Given the description of an element on the screen output the (x, y) to click on. 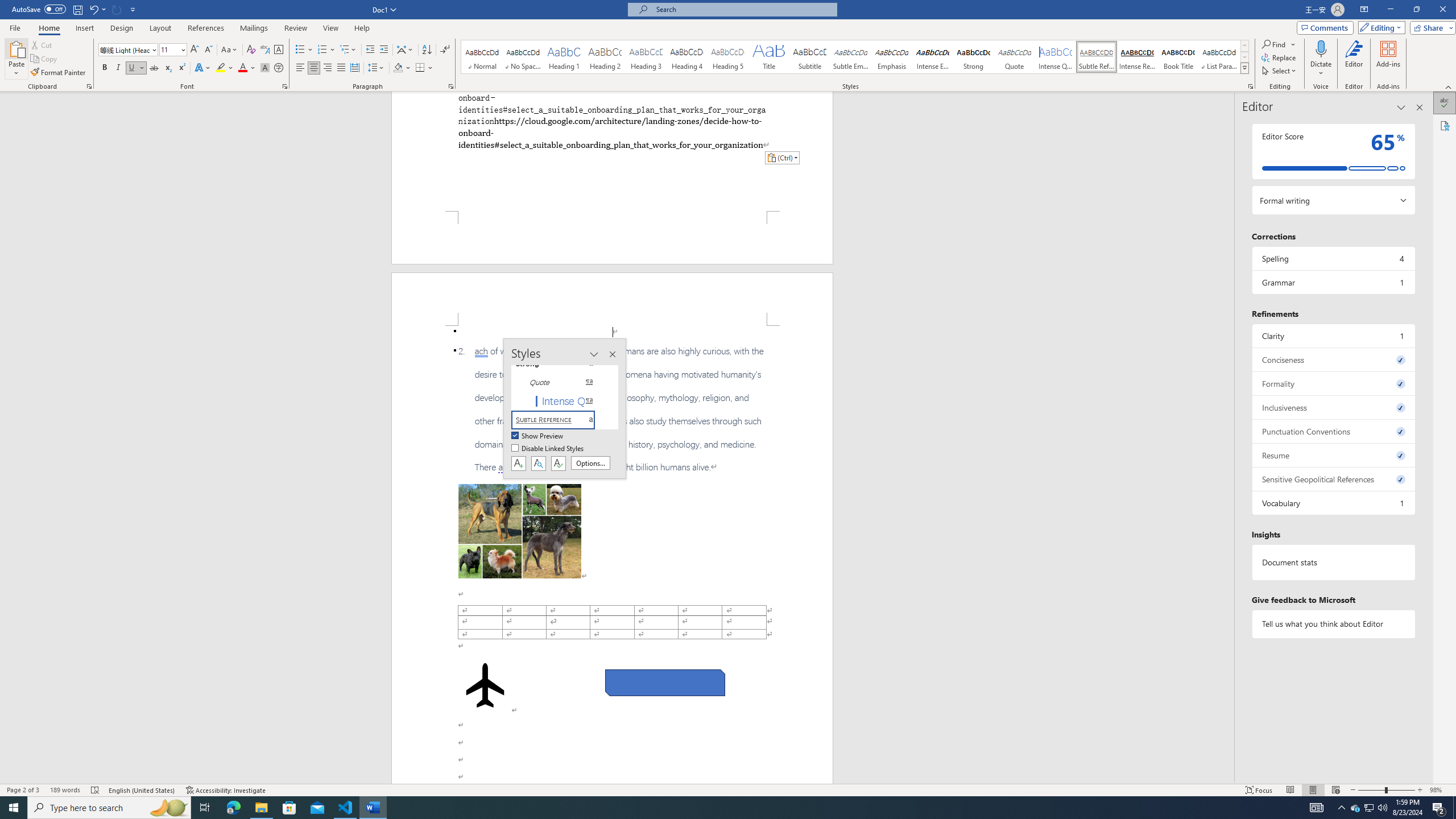
Editor Score 65% (1333, 151)
Heading 4 (686, 56)
